Given the description of an element on the screen output the (x, y) to click on. 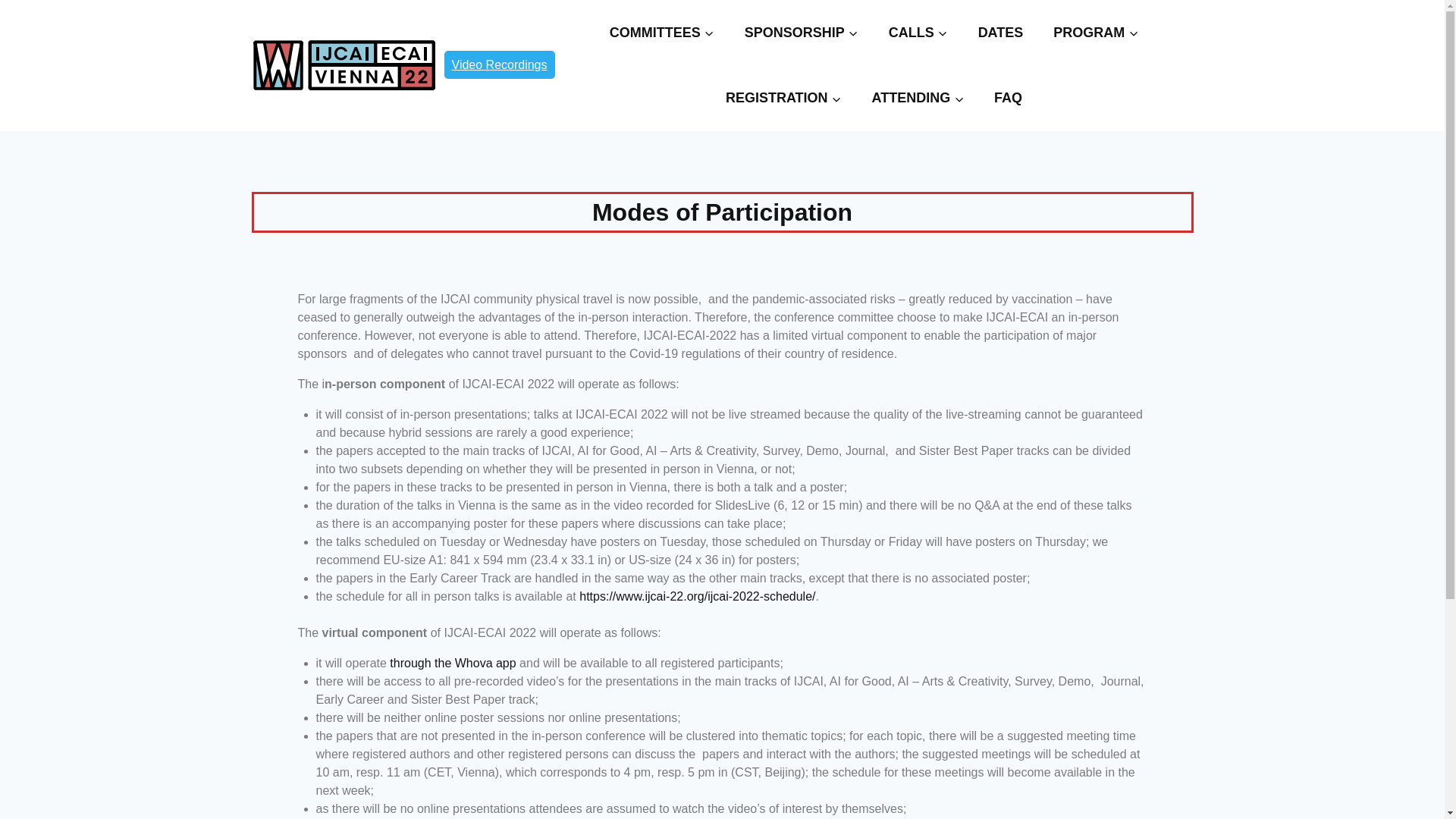
COMMITTEES (661, 32)
Video Recordings (499, 64)
DATES (1000, 32)
Event management software (499, 64)
SPONSORSHIP (801, 32)
CALLS (917, 32)
PROGRAM (1095, 32)
